Given the description of an element on the screen output the (x, y) to click on. 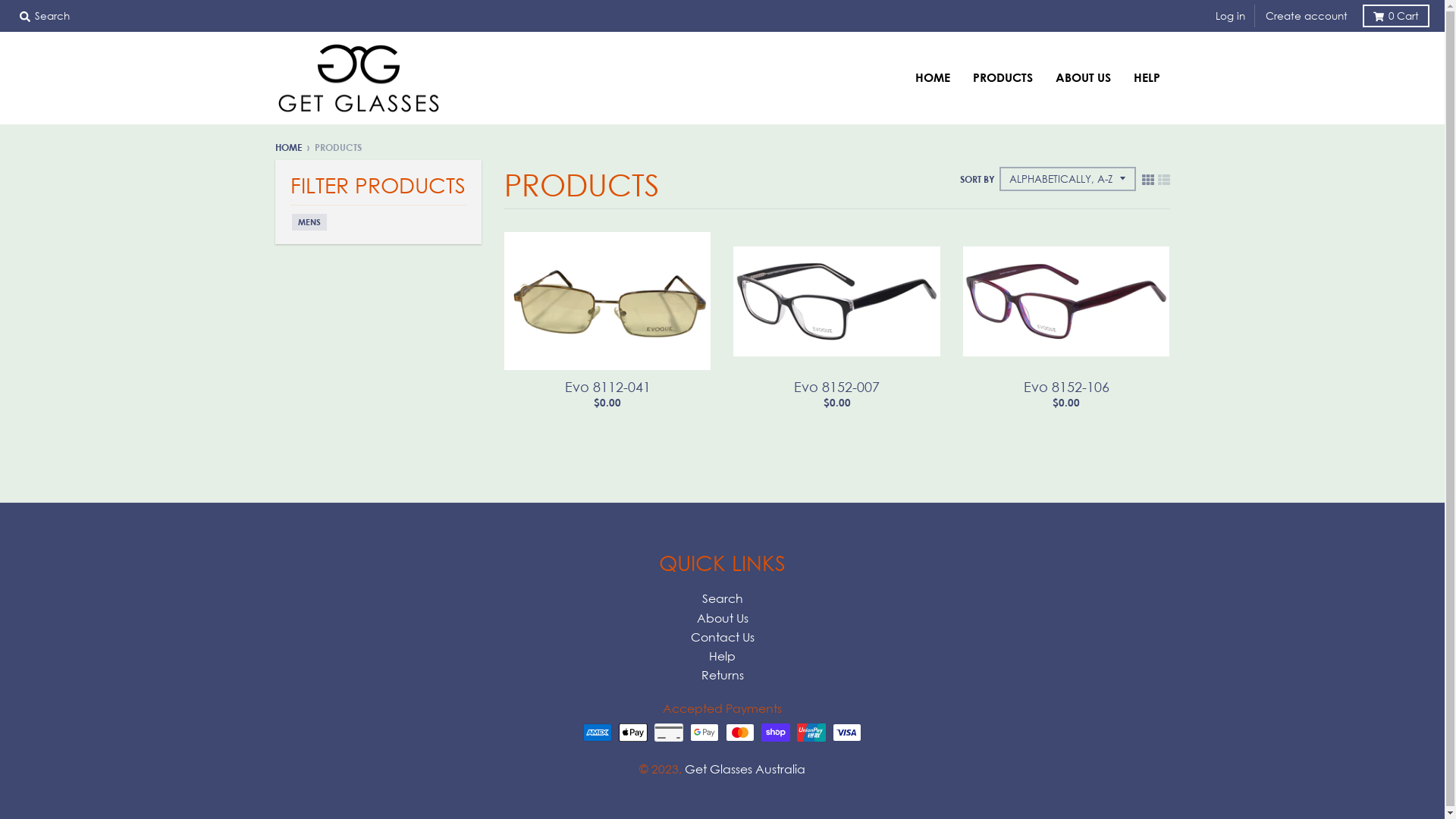
ABOUT US Element type: text (1082, 77)
Contact Us Element type: text (721, 636)
Search Element type: text (44, 15)
Evo 8152-007 Element type: text (836, 387)
About Us Element type: text (721, 617)
0 Cart Element type: text (1395, 15)
HOME Element type: text (287, 147)
Log in Element type: text (1230, 15)
Help Element type: text (722, 655)
Grid view Element type: hover (1148, 179)
Create account Element type: text (1306, 15)
Evo 8112-041 Element type: text (607, 387)
PRODUCTS Element type: text (1002, 77)
HELP Element type: text (1146, 77)
List view Element type: hover (1163, 179)
Get Glasses Australia Element type: text (744, 768)
HOME Element type: text (932, 77)
Evo 8152-106 Element type: text (1066, 387)
MENS Element type: text (308, 221)
Search Element type: text (722, 597)
Returns Element type: text (721, 674)
